Given the description of an element on the screen output the (x, y) to click on. 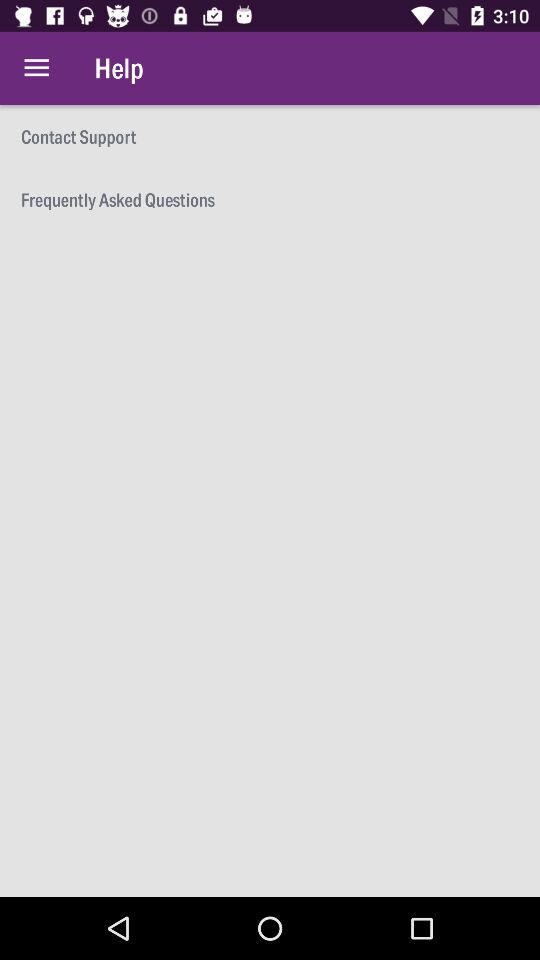
tap item to the left of the help icon (36, 68)
